Given the description of an element on the screen output the (x, y) to click on. 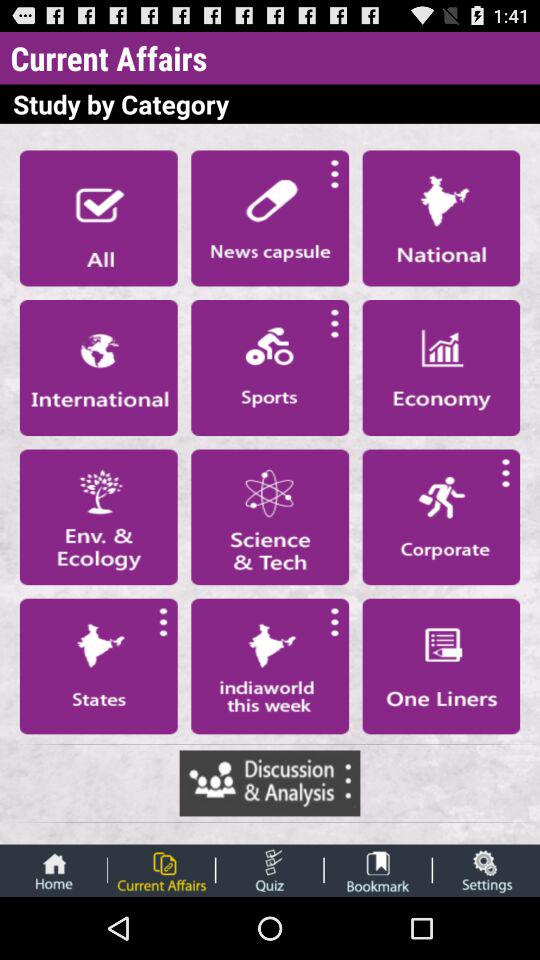
click the button above the home button on the web page (98, 666)
the text home along with the icon above it shown at the bottom left corner (53, 870)
select button beside science  tech (98, 516)
click the button beside home (161, 870)
go to the box that reads international (98, 367)
click on the button below the news capsule (269, 367)
click the button which on right to bookmark (485, 870)
select first option under study by category (98, 217)
